Given the description of an element on the screen output the (x, y) to click on. 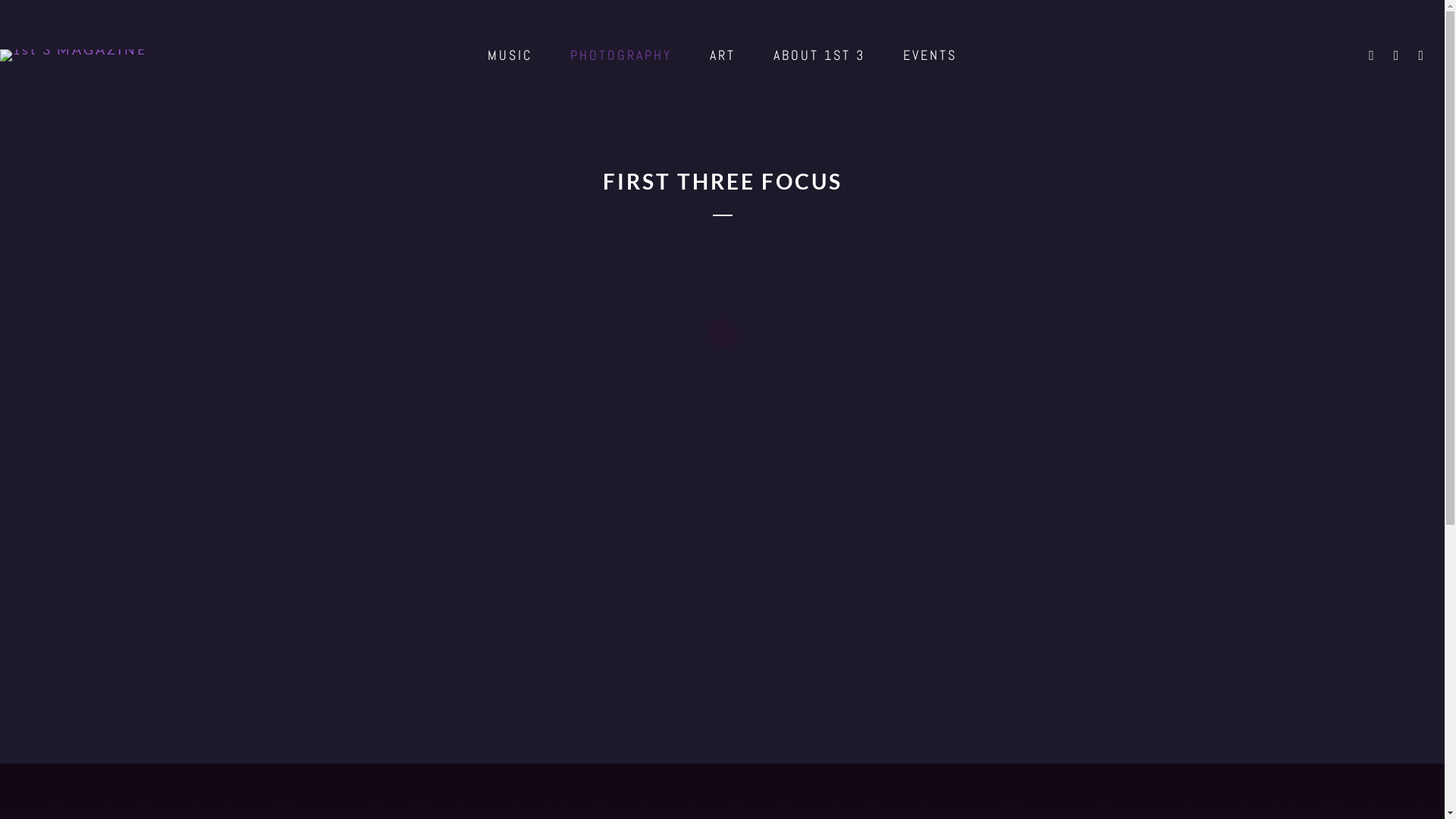
EVENTS Element type: text (930, 55)
ART Element type: text (722, 55)
Facebook Element type: hover (1397, 55)
PHOTOGRAPHY Element type: text (621, 55)
Instagram Element type: hover (1372, 55)
Twitter Element type: hover (1421, 55)
ABOUT 1ST 3 Element type: text (819, 55)
MUSIC Element type: text (509, 55)
